Given the description of an element on the screen output the (x, y) to click on. 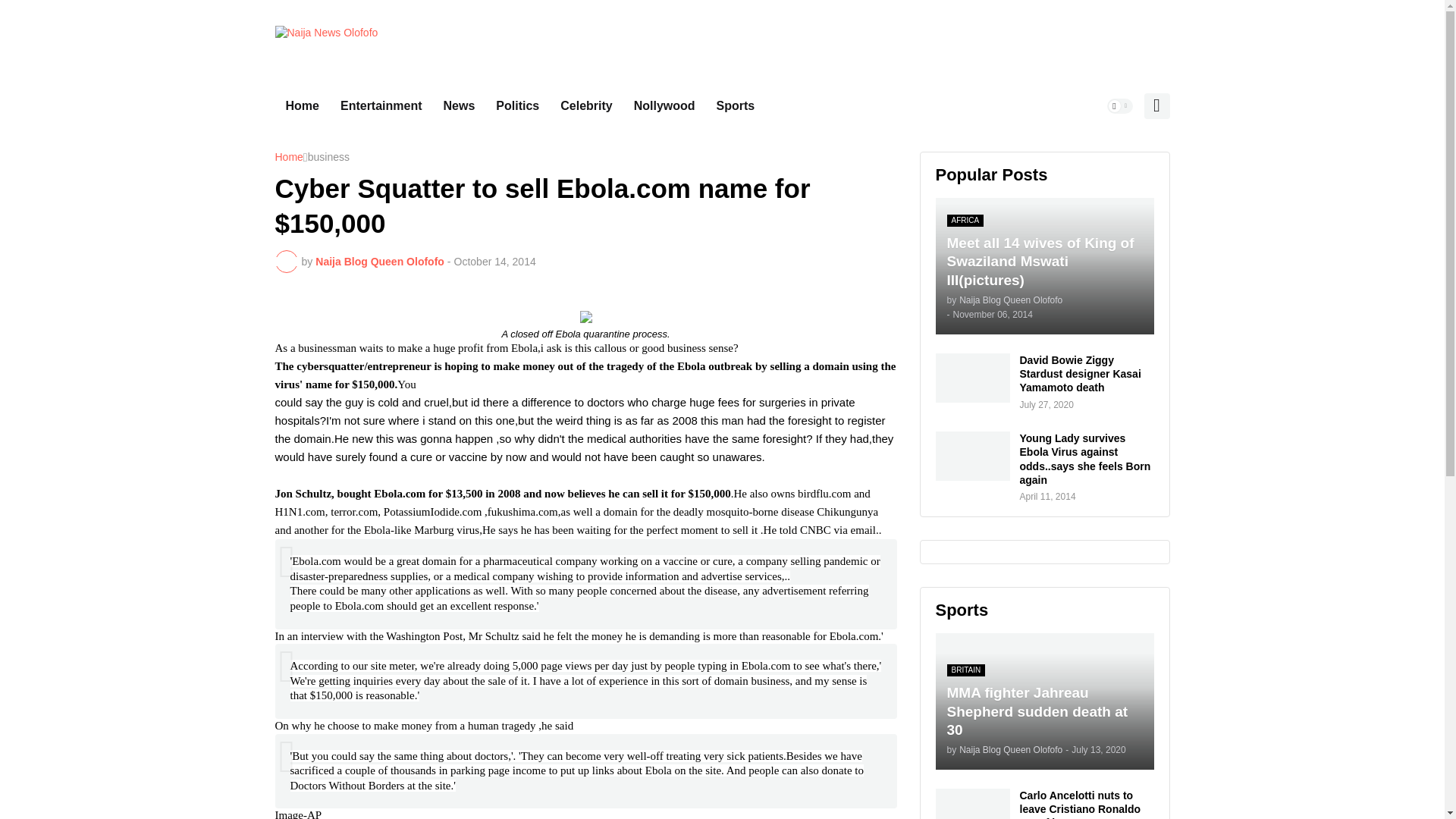
David Bowie Ziggy Stardust designer Kasai Yamamoto death (1086, 373)
Sports (735, 105)
Entertainment (381, 105)
Nollywood (664, 105)
News (459, 105)
Politics (517, 105)
Celebrity (586, 105)
Naija News Olofofo (326, 41)
Home (302, 105)
Home (288, 157)
